Given the description of an element on the screen output the (x, y) to click on. 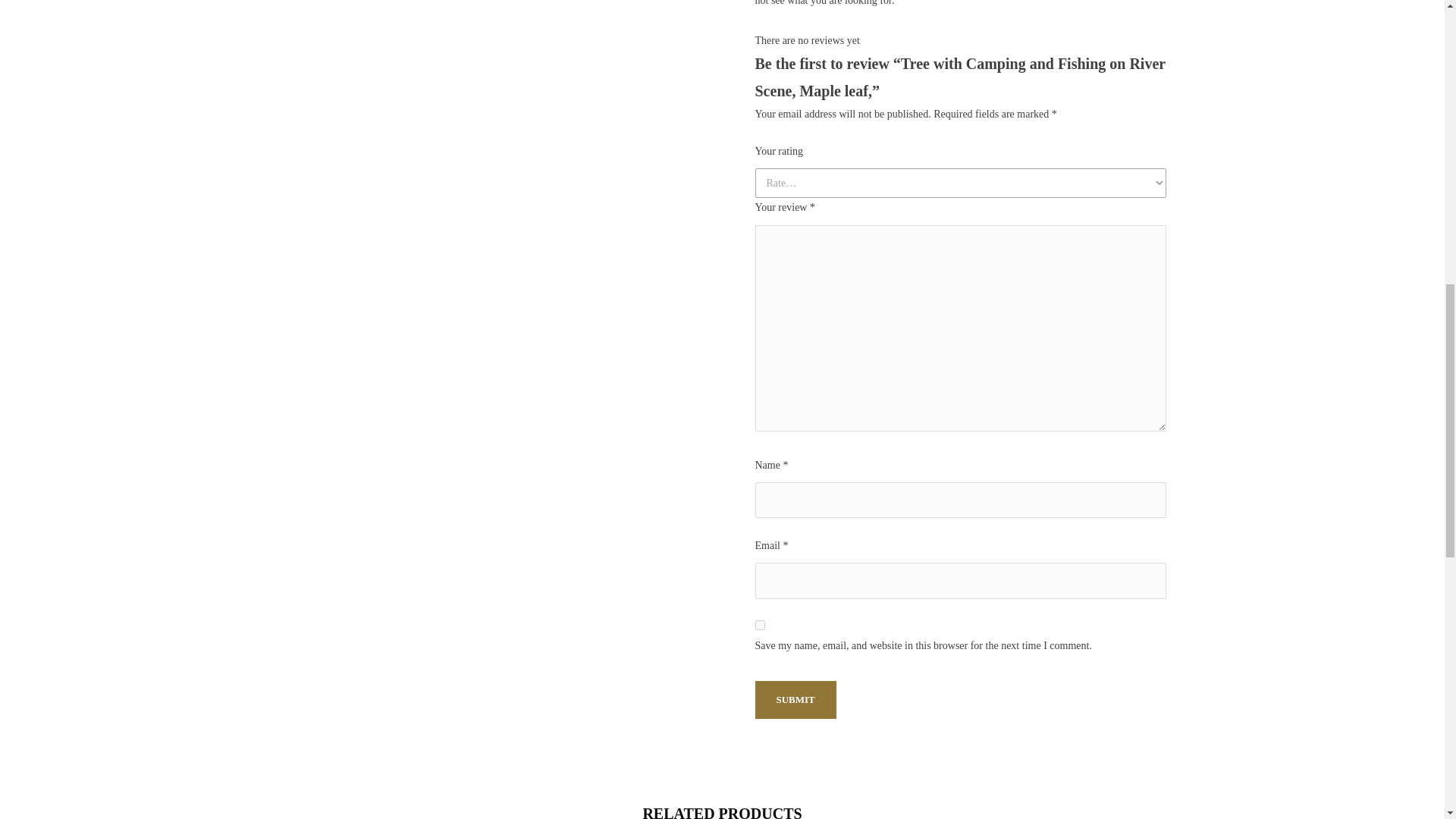
Submit (795, 699)
Submit (795, 699)
yes (760, 624)
